Given the description of an element on the screen output the (x, y) to click on. 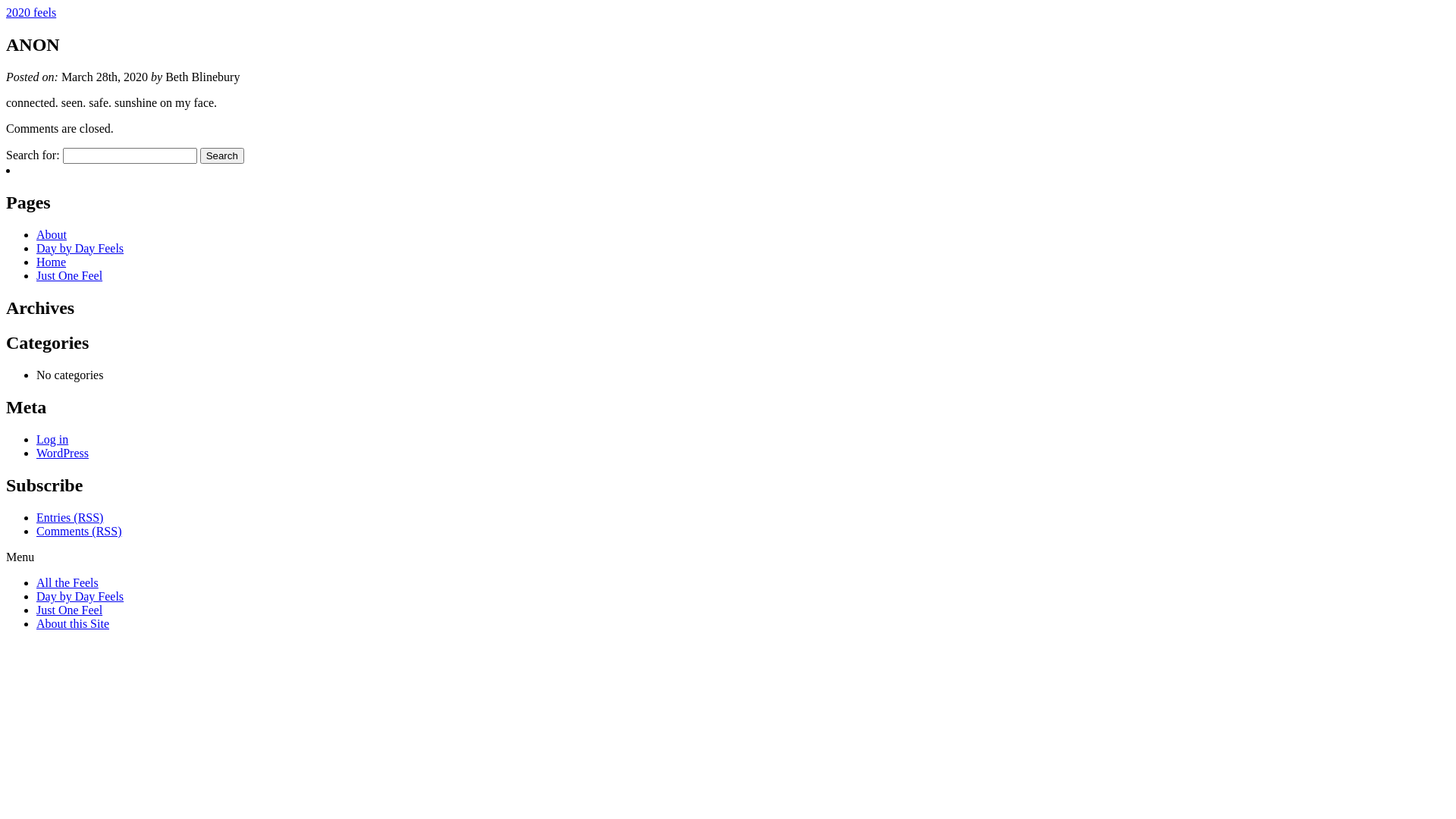
WordPress Element type: text (62, 452)
Search Element type: text (222, 155)
Entries (RSS) Element type: text (69, 517)
About Element type: text (51, 234)
2020 feels Element type: text (31, 12)
Home Element type: text (50, 261)
Just One Feel Element type: text (69, 275)
All the Feels Element type: text (67, 582)
Comments (RSS) Element type: text (78, 530)
Day by Day Feels Element type: text (79, 247)
Just One Feel Element type: text (69, 609)
Day by Day Feels Element type: text (79, 595)
About this Site Element type: text (72, 623)
Log in Element type: text (52, 439)
